Given the description of an element on the screen output the (x, y) to click on. 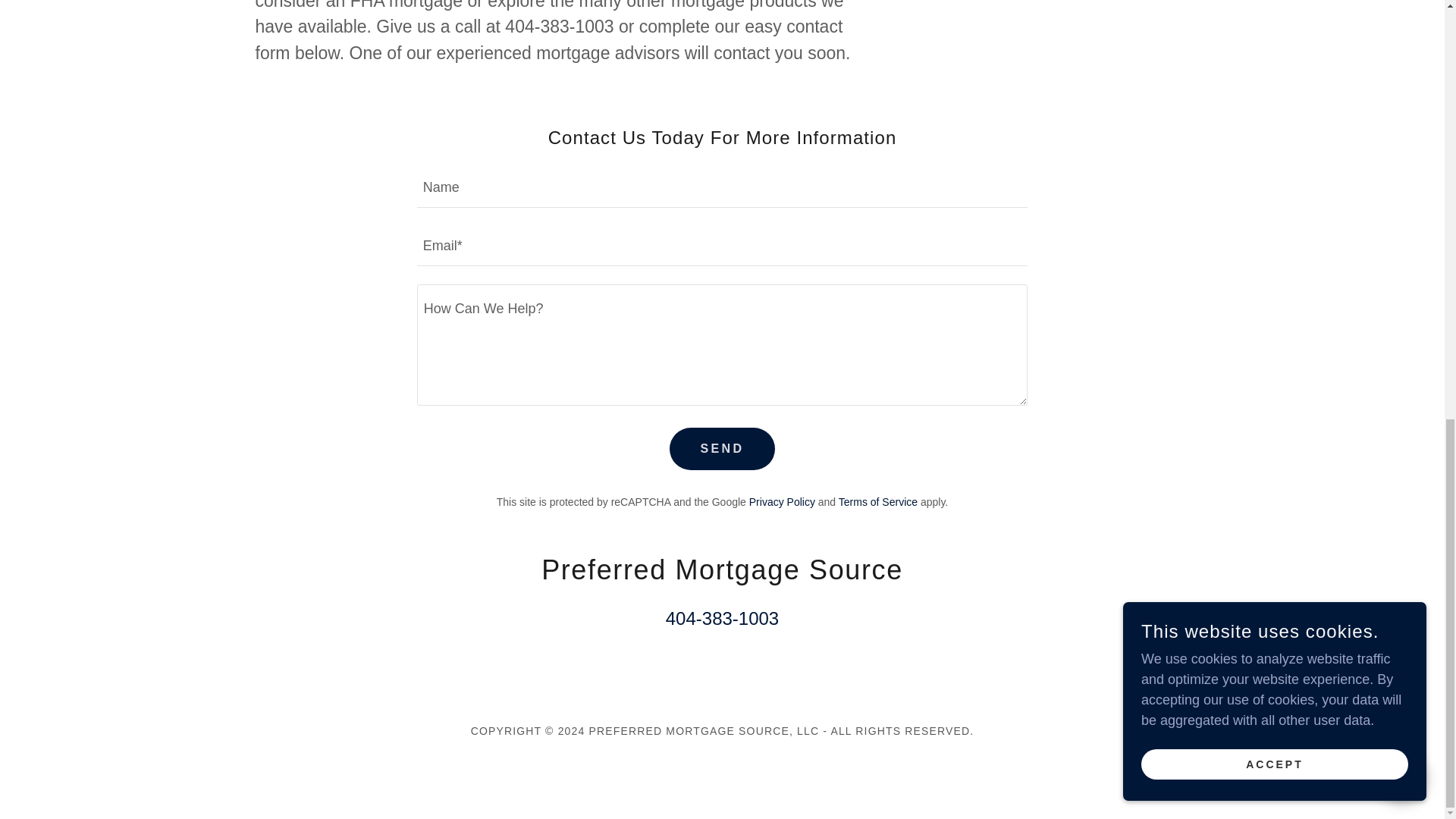
Terms of Service (877, 501)
404-383-1003 (721, 618)
SEND (721, 448)
Privacy Policy (782, 501)
